Given the description of an element on the screen output the (x, y) to click on. 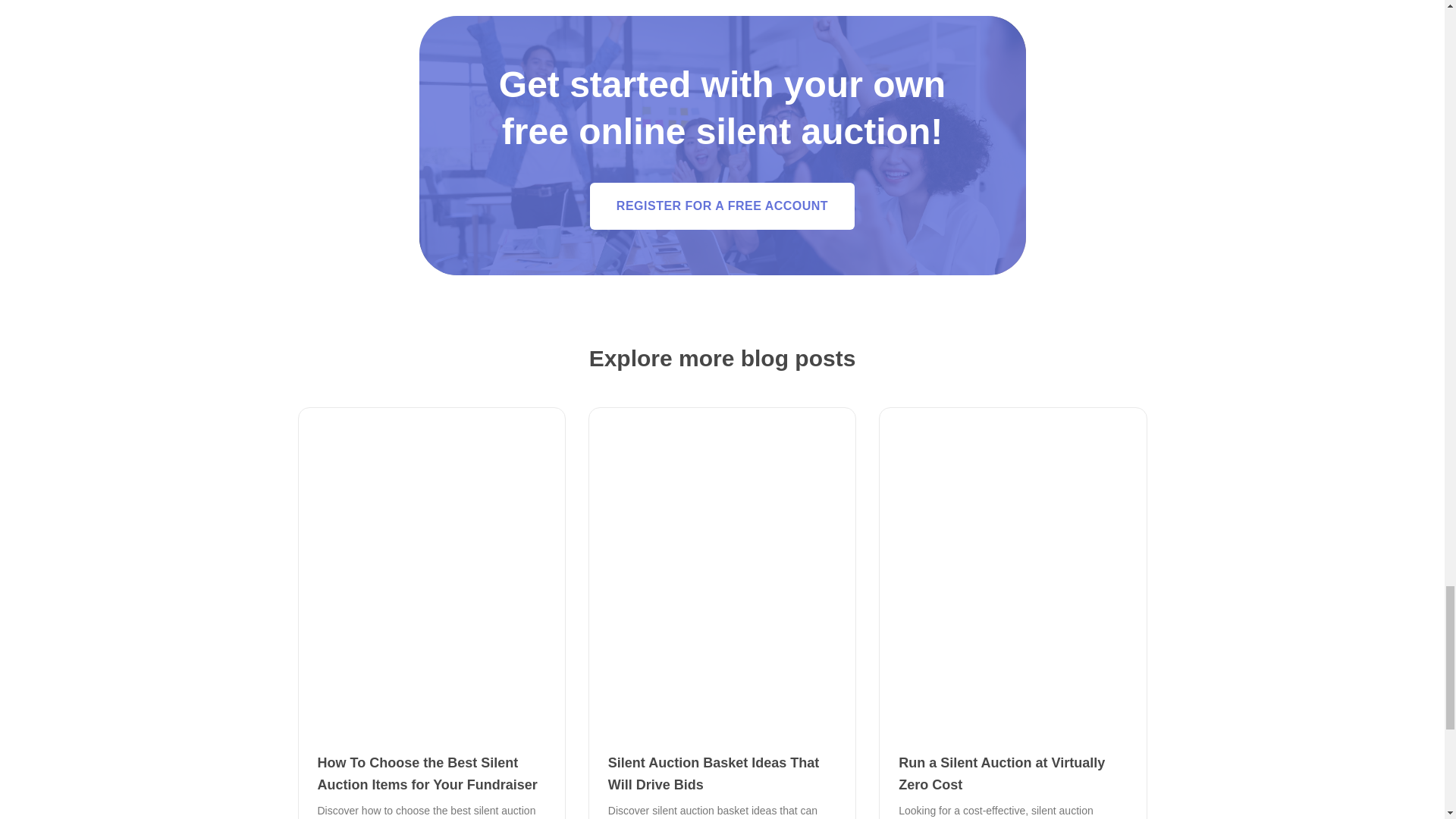
REGISTER FOR A FREE ACCOUNT (721, 206)
Run a Silent Auction at Virtually Zero Cost (1001, 773)
Silent Auction Basket Ideas That Will Drive Bids (713, 773)
